Given the description of an element on the screen output the (x, y) to click on. 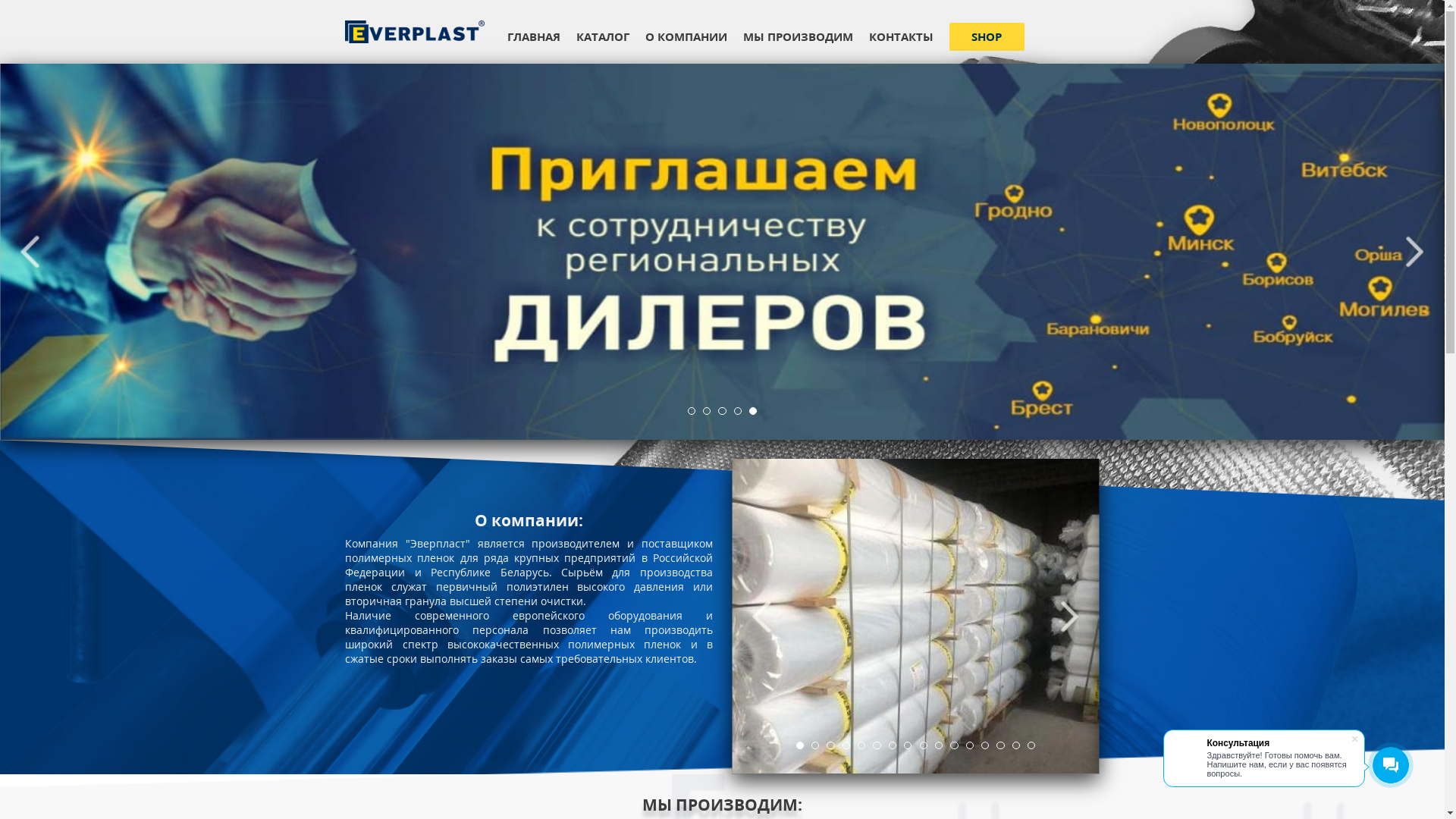
SHOP Element type: text (1160, 43)
